Given the description of an element on the screen output the (x, y) to click on. 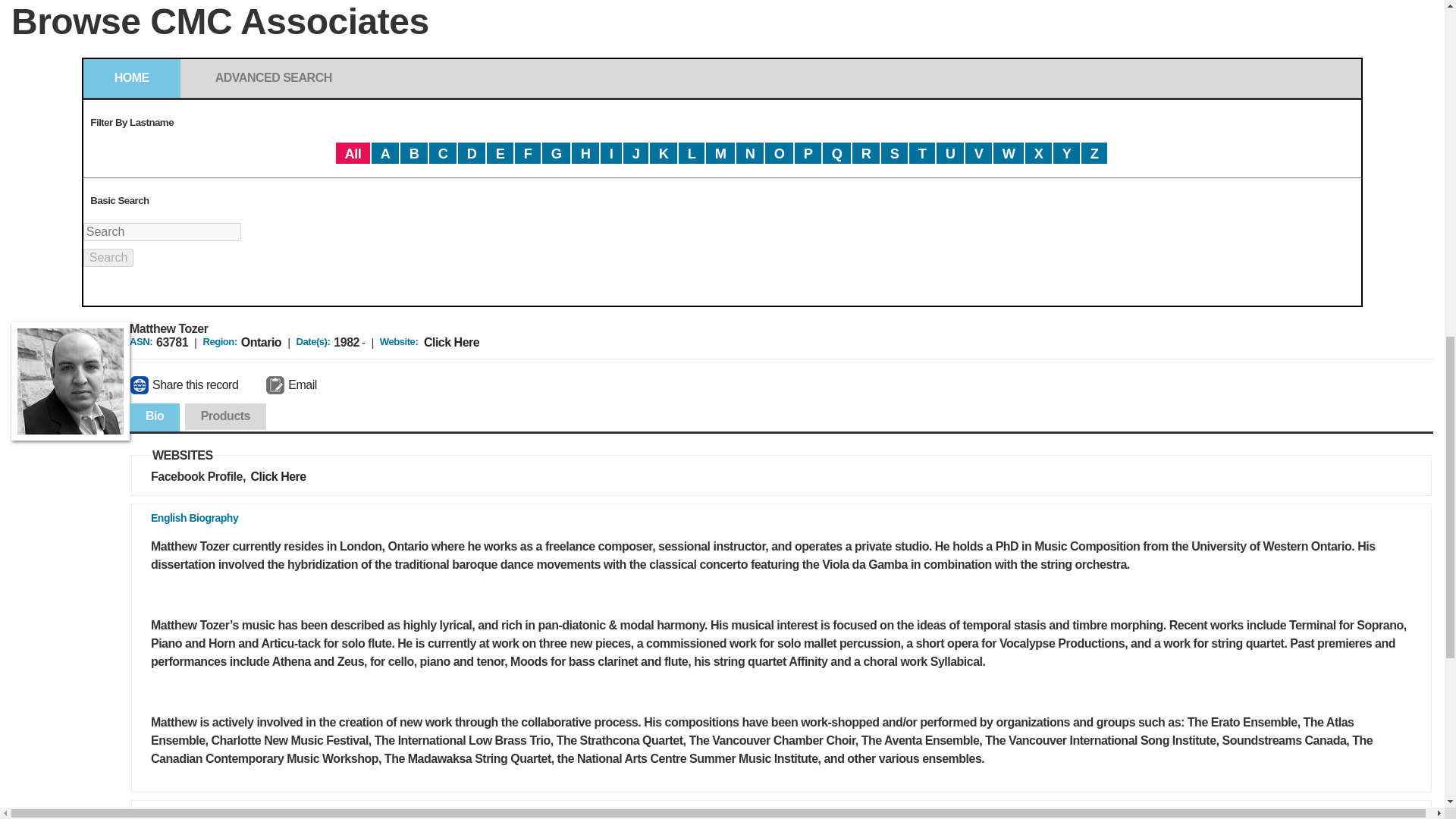
H (585, 152)
ADVANCED SEARCH (273, 77)
A (384, 152)
I (610, 152)
HOME (131, 77)
E (499, 152)
G (555, 152)
C (443, 152)
Find all records with this Region (261, 341)
F (527, 152)
All (352, 152)
J (635, 152)
B (414, 152)
K (663, 152)
D (471, 152)
